Given the description of an element on the screen output the (x, y) to click on. 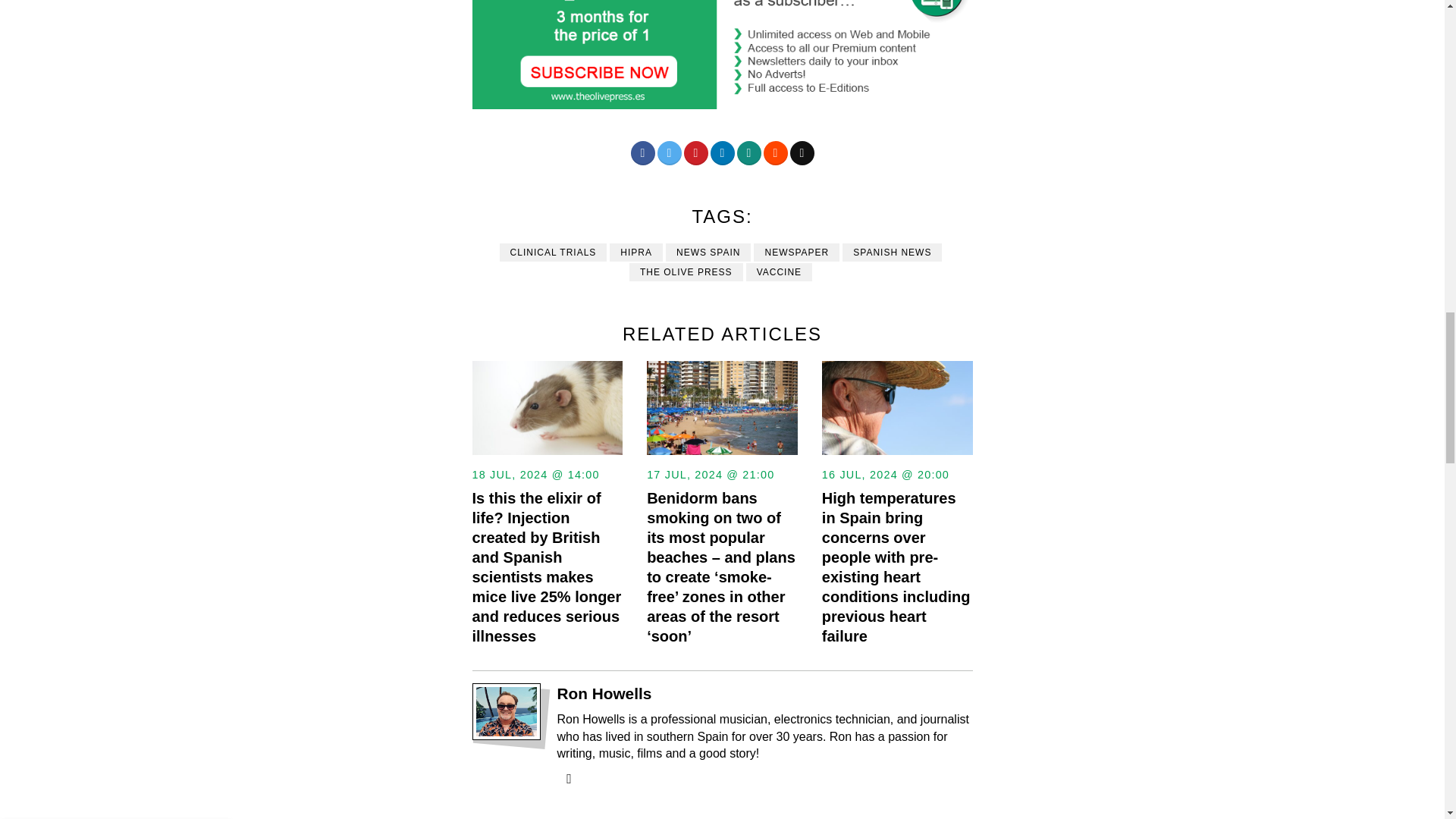
16 Jul, 2024 20:00:00 (885, 474)
18 Jul, 2024 14:00:00 (534, 474)
17 Jul, 2024 21:00:00 (710, 474)
